Given the description of an element on the screen output the (x, y) to click on. 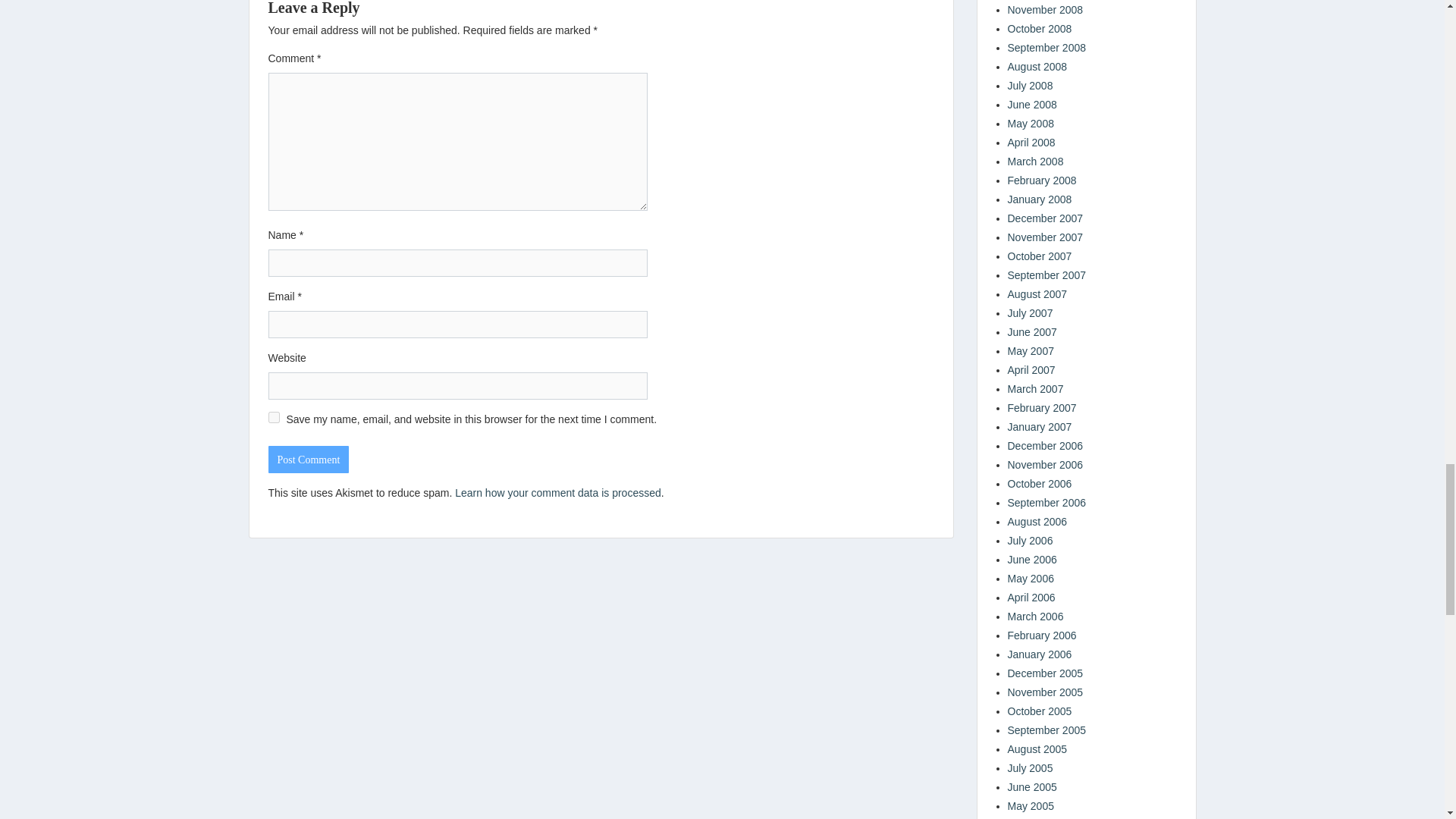
Learn how your comment data is processed (557, 492)
yes (273, 417)
Post Comment (308, 459)
Post Comment (308, 459)
